Given the description of an element on the screen output the (x, y) to click on. 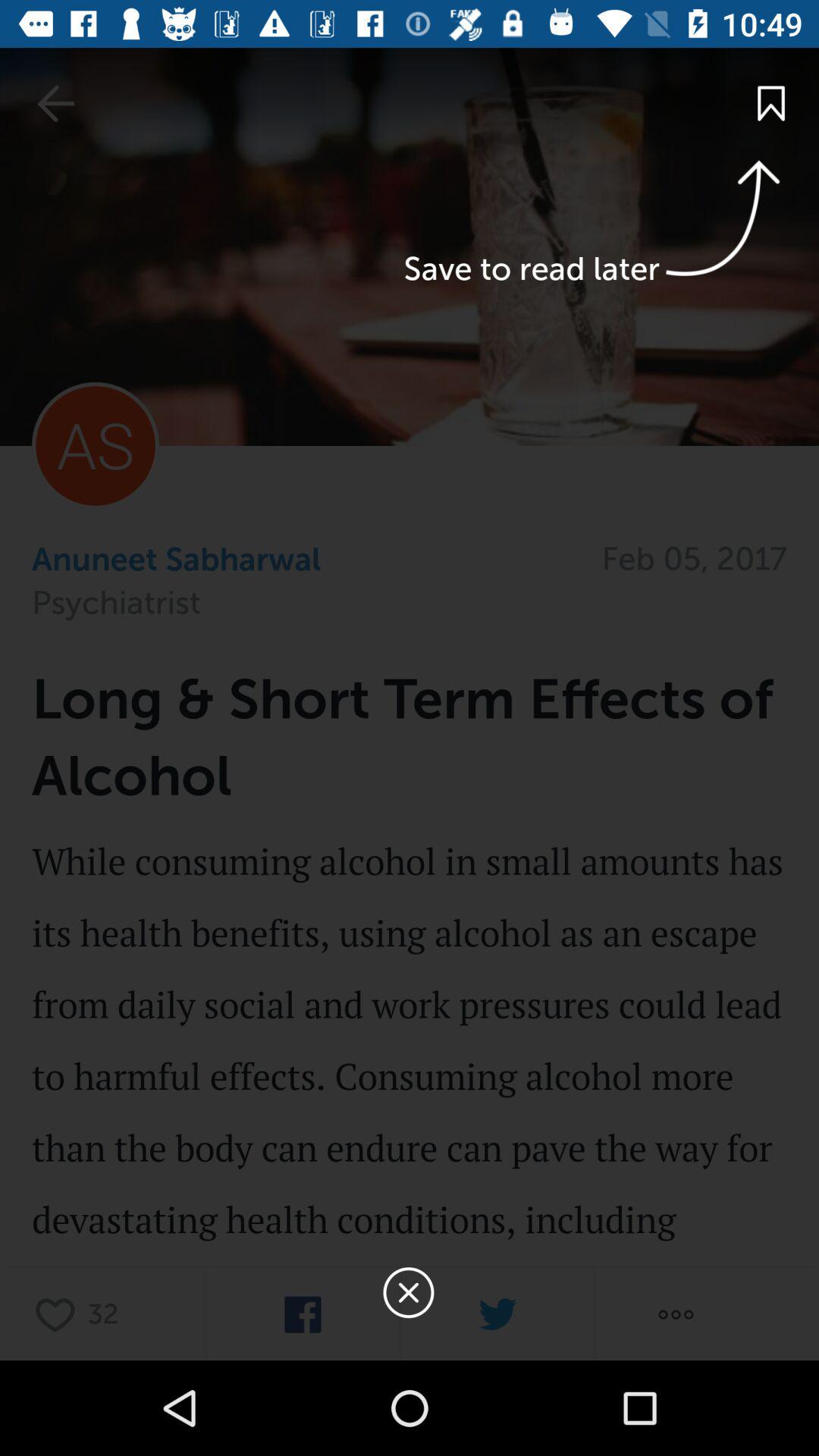
favorites (59, 1314)
